Given the description of an element on the screen output the (x, y) to click on. 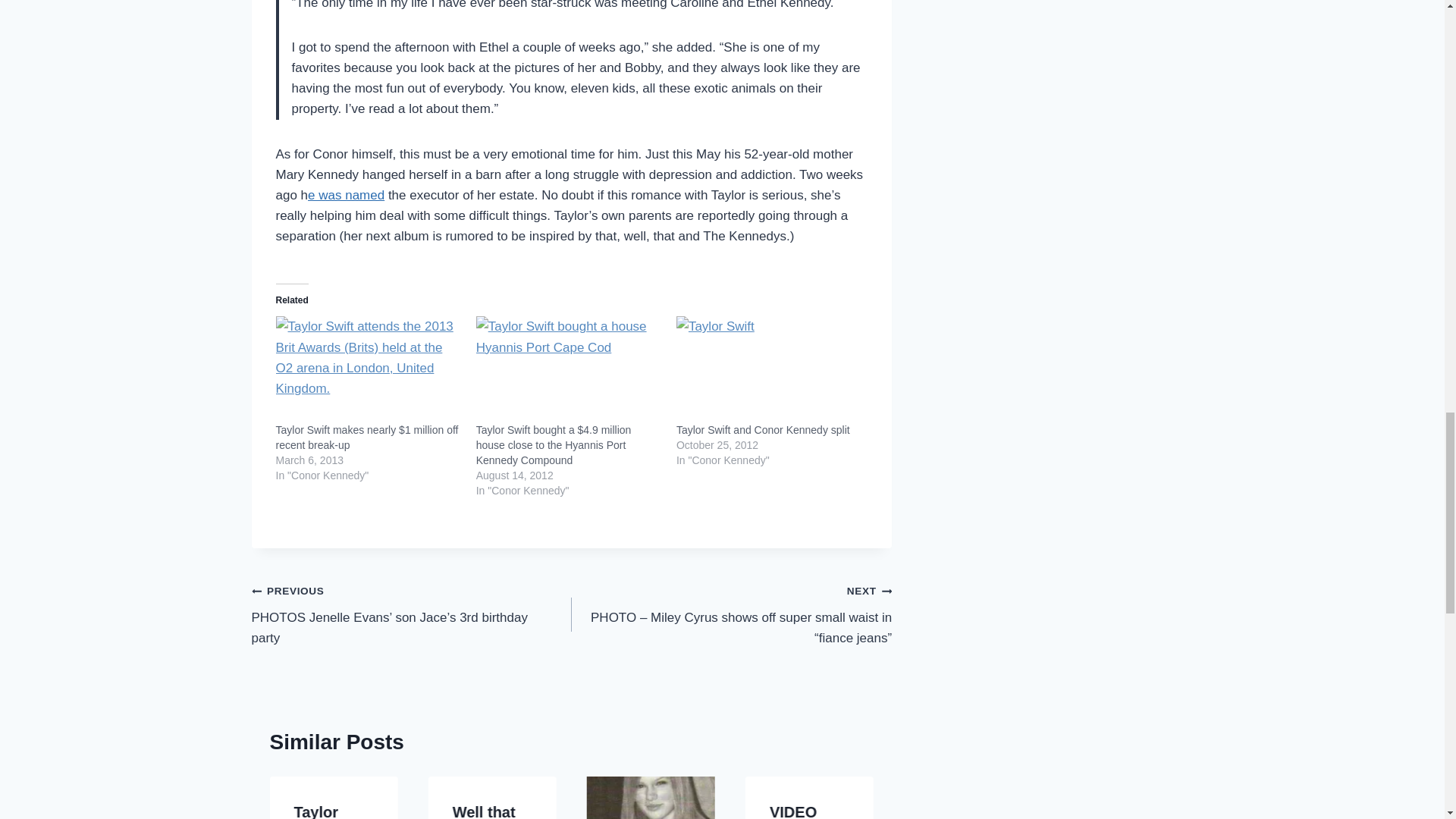
Taylor Swift and Conor Kennedy split (769, 369)
e was named (345, 195)
Taylor Swift and Conor Kennedy split (763, 429)
Taylor Swift and Conor Kennedy split (763, 429)
